Given the description of an element on the screen output the (x, y) to click on. 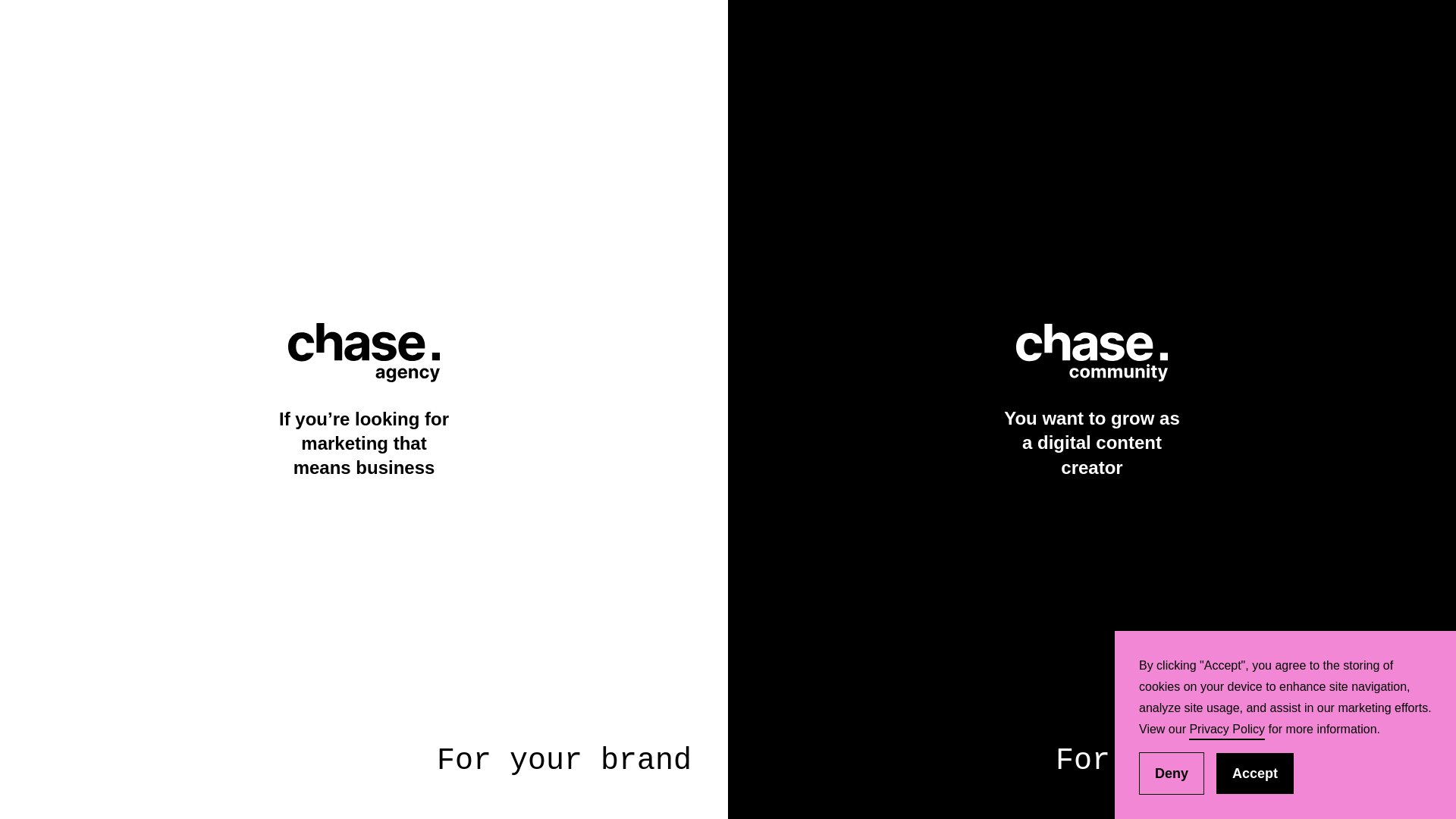
Deny Element type: text (1171, 773)
You want to grow as a digital content creator Element type: text (1091, 409)
Privacy Policy Element type: text (1226, 731)
Accept Element type: text (1254, 773)
